Given the description of an element on the screen output the (x, y) to click on. 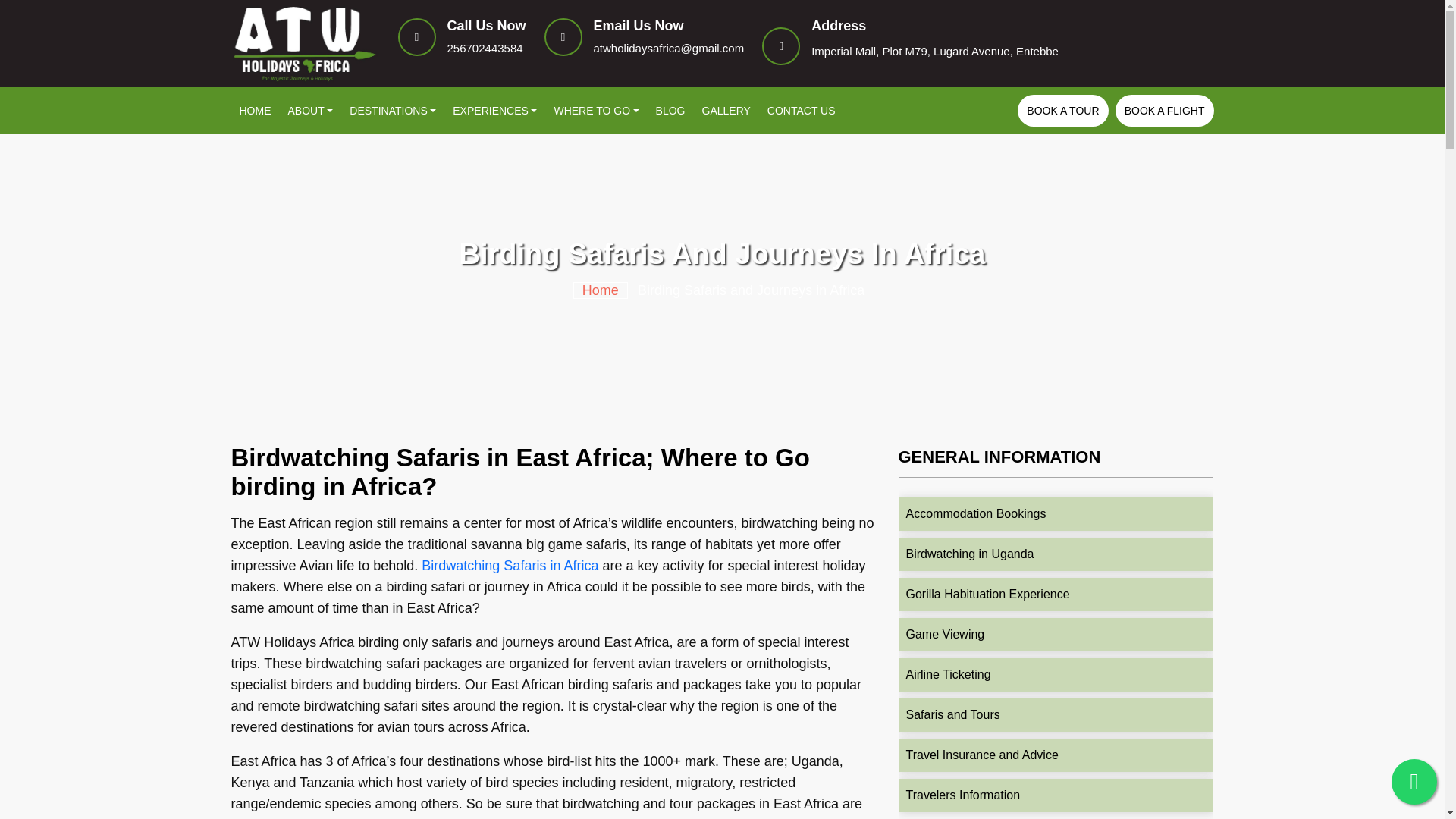
DESTINATIONS (392, 110)
256702443584 (484, 47)
BLOG (670, 110)
ABOUT (309, 110)
EXPERIENCES (494, 110)
WHERE TO GO (595, 110)
HOME (254, 110)
